Given the description of an element on the screen output the (x, y) to click on. 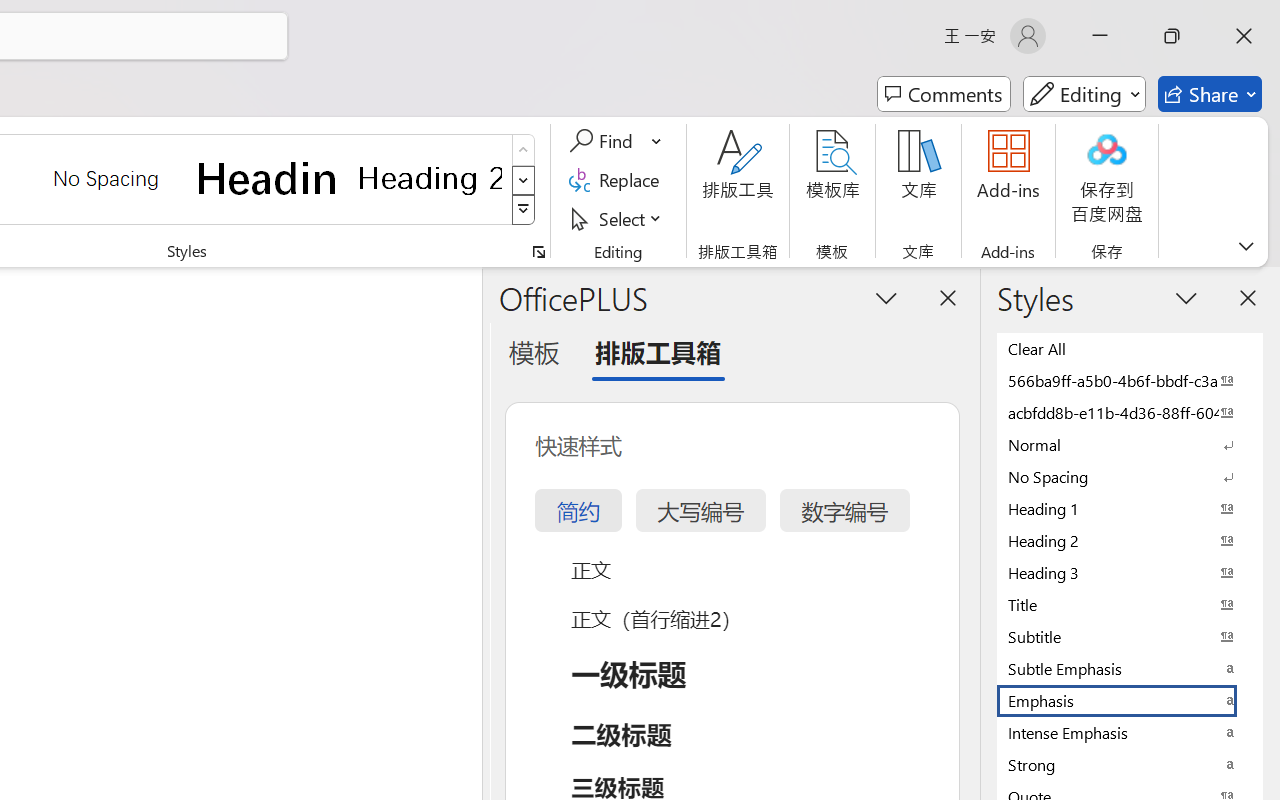
Clear All (1130, 348)
Strong (1130, 764)
Heading 3 (1130, 572)
Subtitle (1130, 636)
Title (1130, 604)
Row Down (523, 180)
Find (616, 141)
Close (1244, 36)
Ribbon Display Options (1246, 245)
Comments (943, 94)
Intense Emphasis (1130, 732)
